Given the description of an element on the screen output the (x, y) to click on. 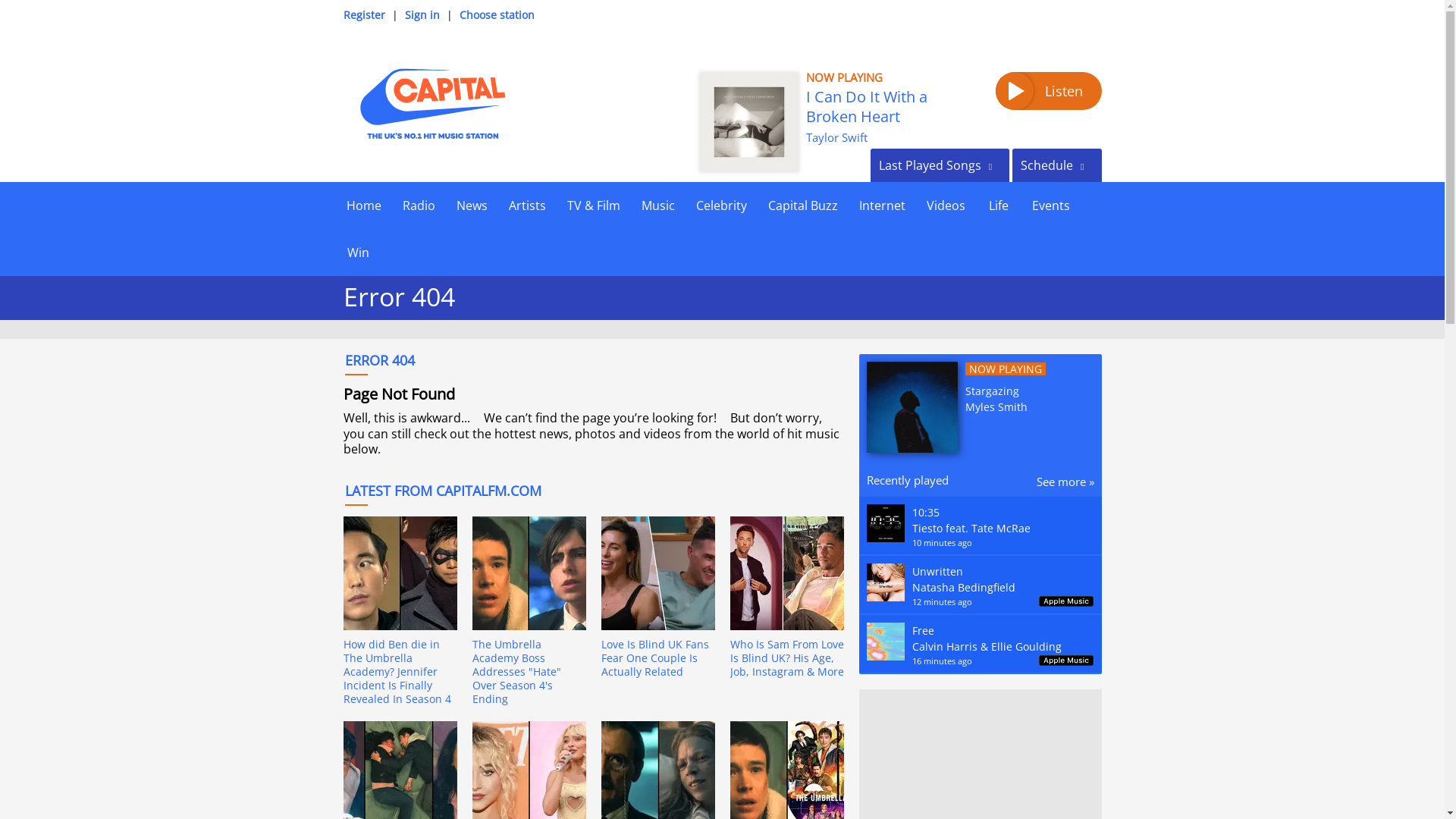
Last Played Songs (939, 164)
Life (997, 205)
Win (357, 252)
Listen (1047, 90)
Schedule (1055, 164)
Celebrity (721, 205)
Sign in (421, 14)
Home (362, 205)
Register (363, 14)
